Given the description of an element on the screen output the (x, y) to click on. 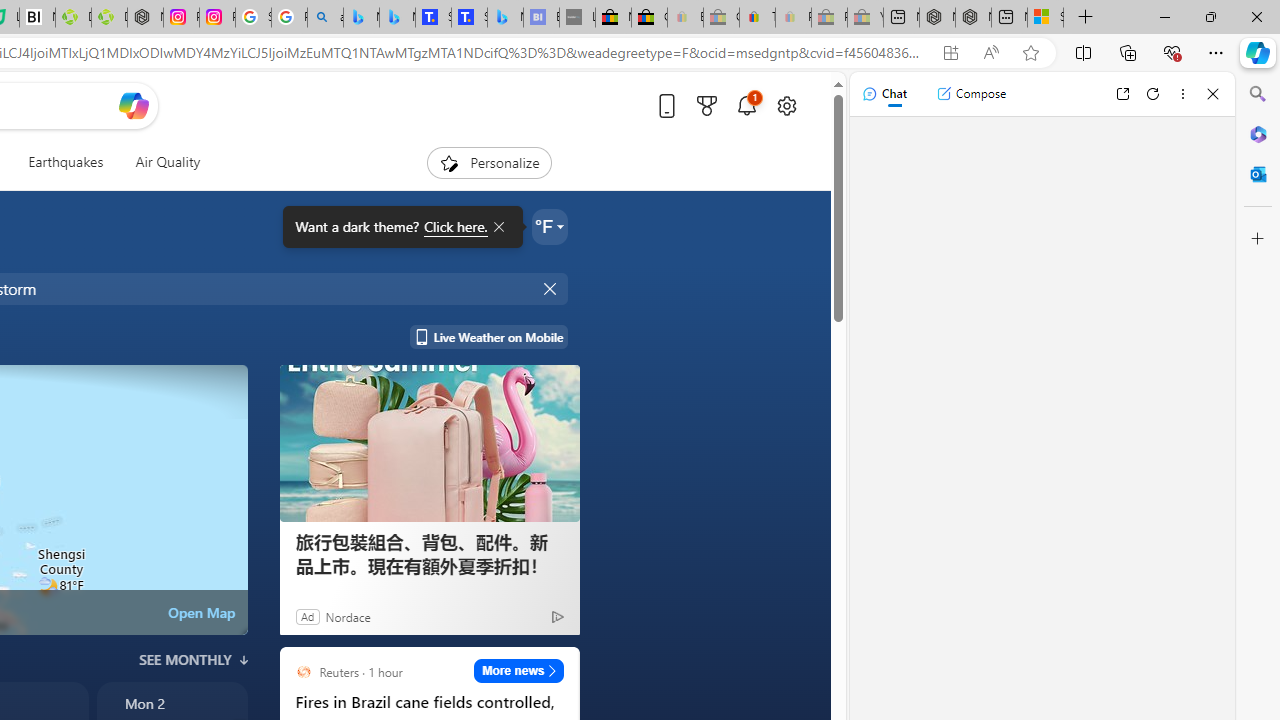
Sign in to your Microsoft account (1045, 17)
Nordace (348, 615)
App available. Install Microsoft Start Weather (950, 53)
Outlook (1258, 174)
alabama high school quarterback dies - Search (325, 17)
